Given the description of an element on the screen output the (x, y) to click on. 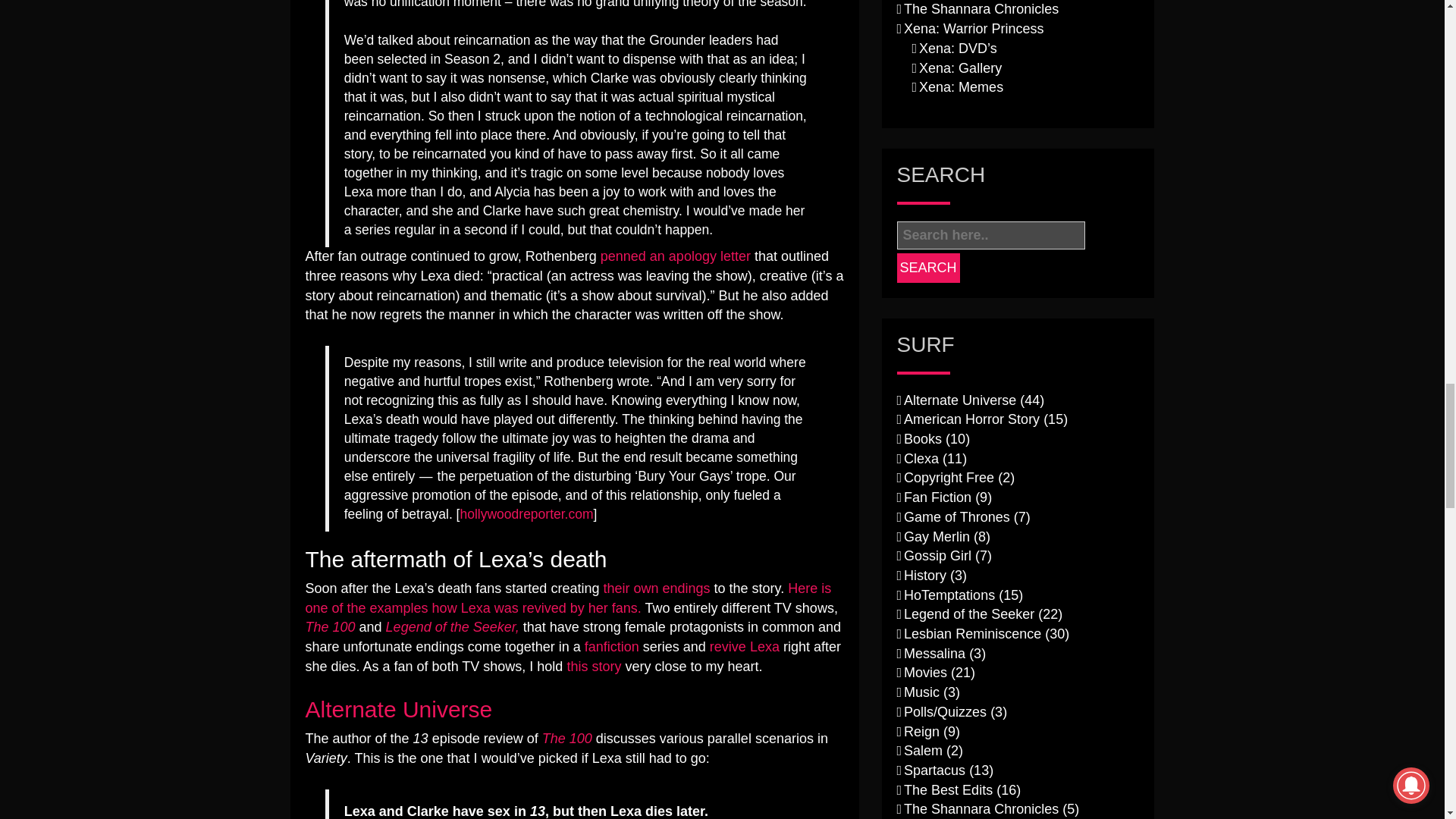
Legend of the Seeker, (452, 626)
penned an apology letter (675, 255)
hollywoodreporter.com (526, 513)
their own endings (656, 588)
fanfiction (612, 646)
The 100 (329, 626)
Search (927, 267)
